Given the description of an element on the screen output the (x, y) to click on. 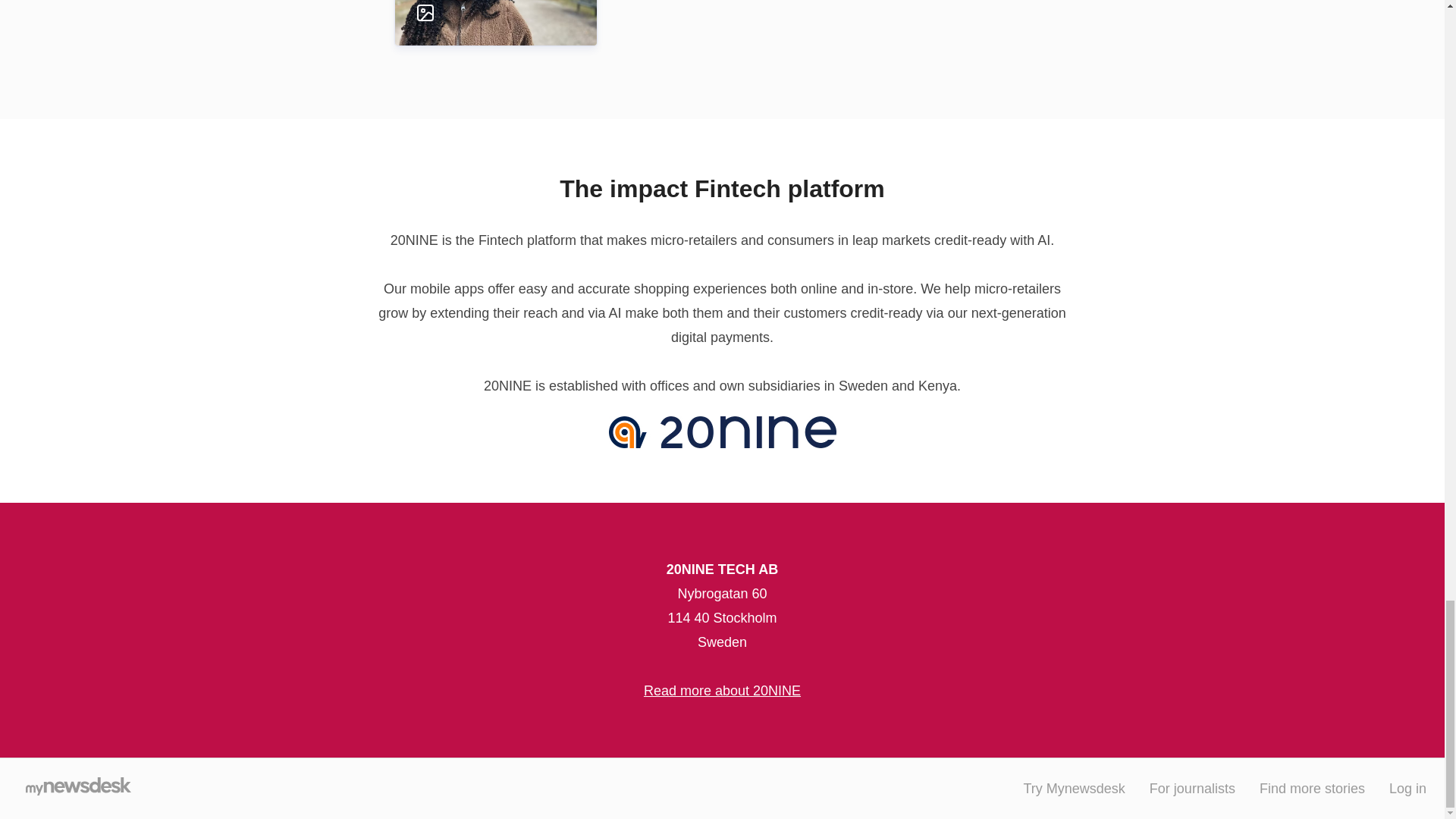
Read more about 20NINE (721, 690)
Find more stories (1312, 788)
Not downloadable (480, 12)
Go to mynewsdesk.com (77, 788)
For journalists (1192, 788)
Try Mynewsdesk (1074, 788)
Log in (1407, 788)
